Given the description of an element on the screen output the (x, y) to click on. 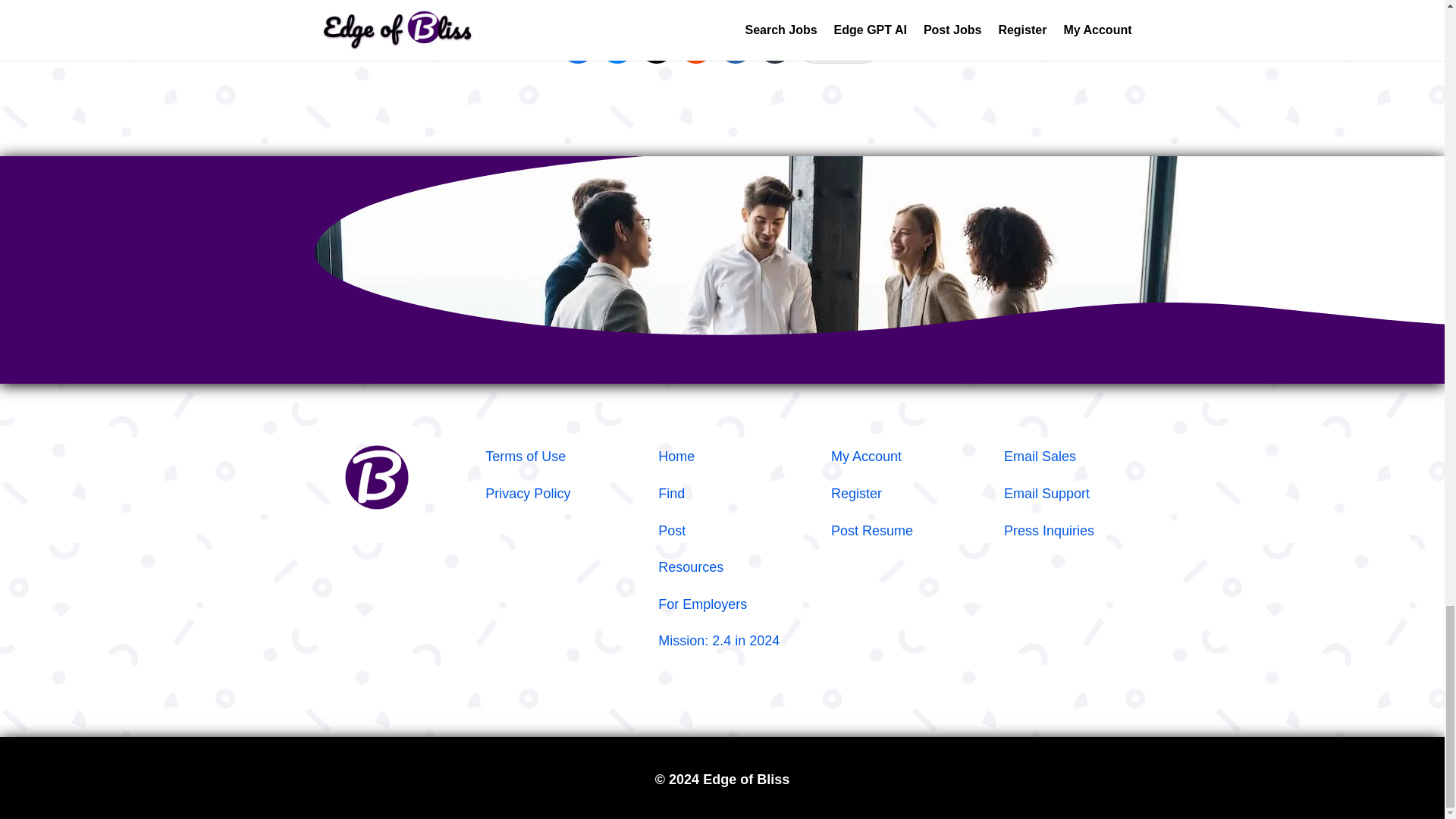
Email Support (1046, 493)
Resources (690, 566)
Register (856, 493)
Email Sales (1039, 456)
More (838, 45)
Privacy Policy (527, 493)
Home (676, 456)
Find (671, 493)
My Account (866, 456)
Mission: 2.4 in 2024 (718, 640)
